Given the description of an element on the screen output the (x, y) to click on. 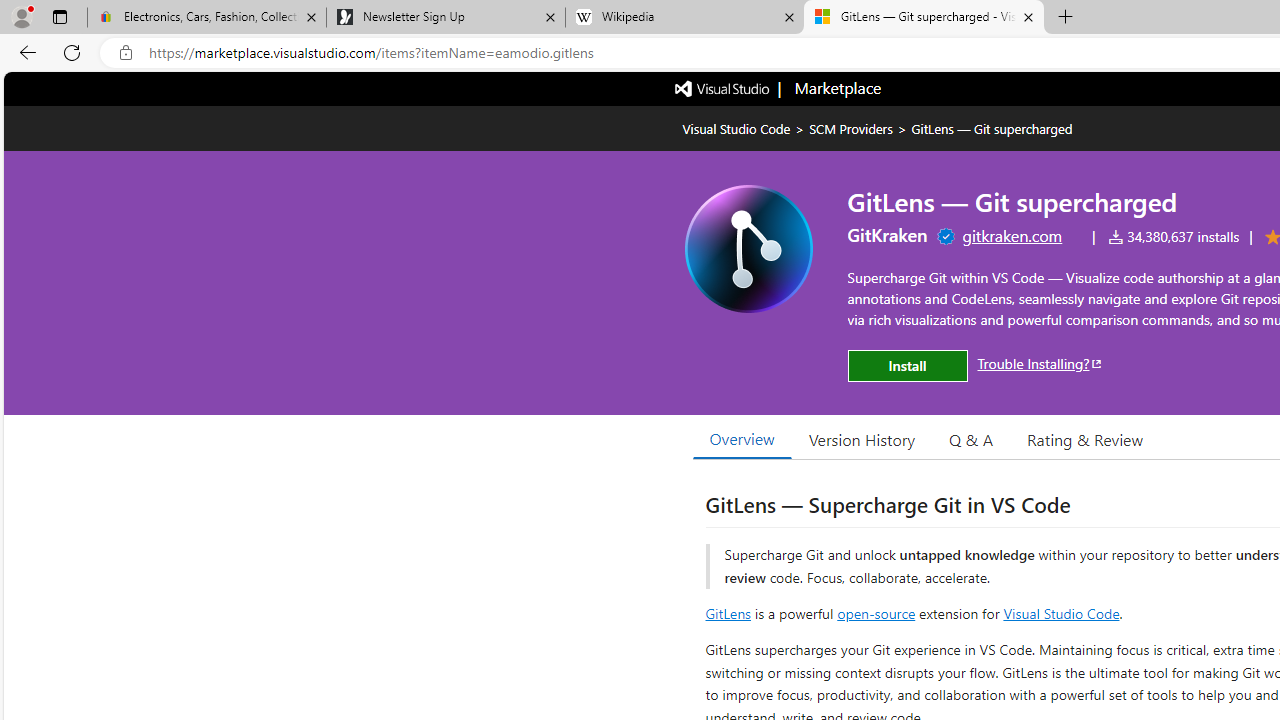
Rating & Review (1084, 439)
Visual Studio logo Marketplace logo (776, 88)
Visual Studio Code (1061, 612)
Q & A (971, 439)
Version History (862, 439)
More from GitKraken publisher (887, 234)
Newsletter Sign Up (445, 17)
GitLens (728, 612)
